Given the description of an element on the screen output the (x, y) to click on. 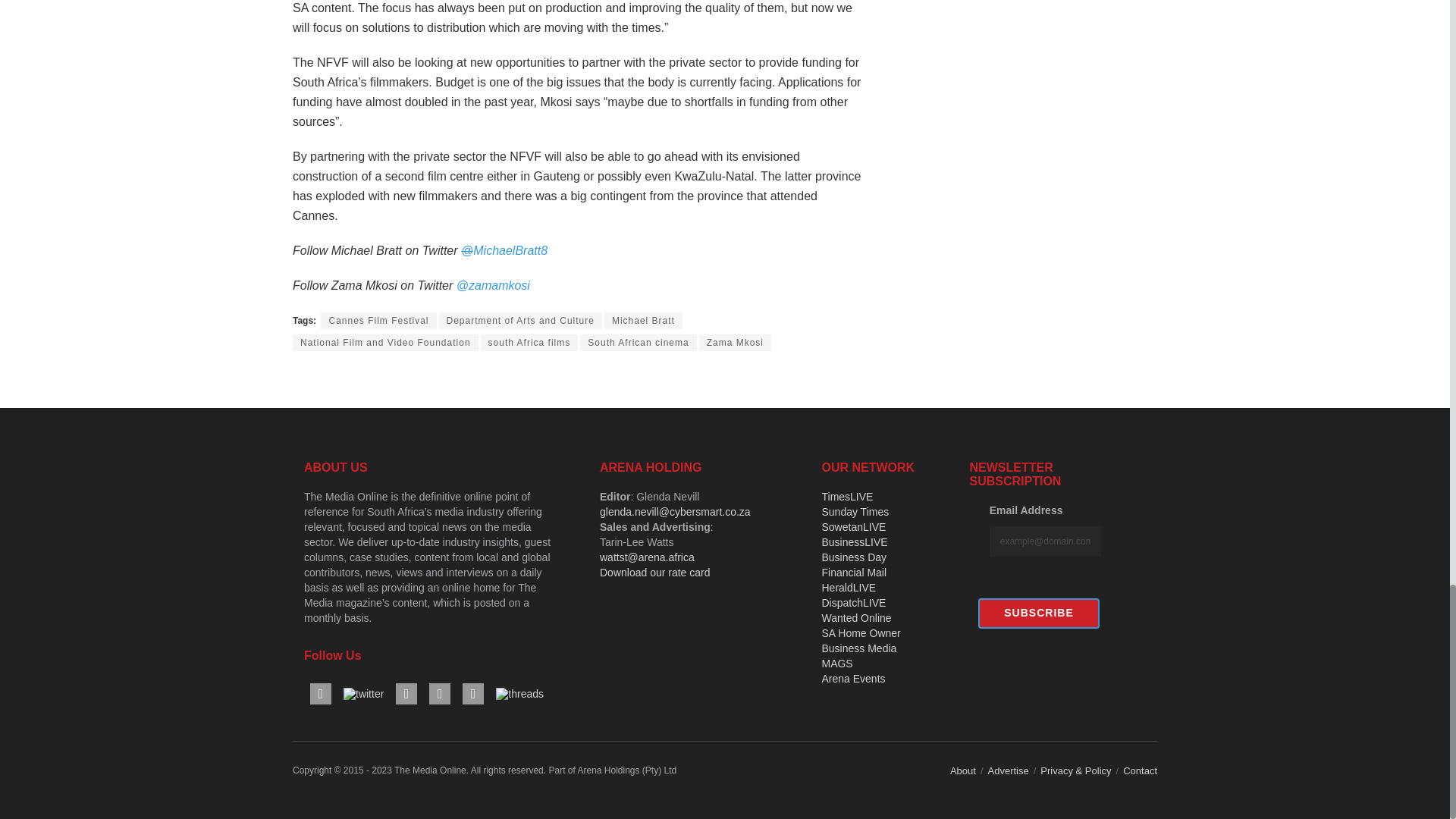
twitter (363, 693)
facebook (320, 693)
youtube (406, 693)
twitter (363, 693)
